Given the description of an element on the screen output the (x, y) to click on. 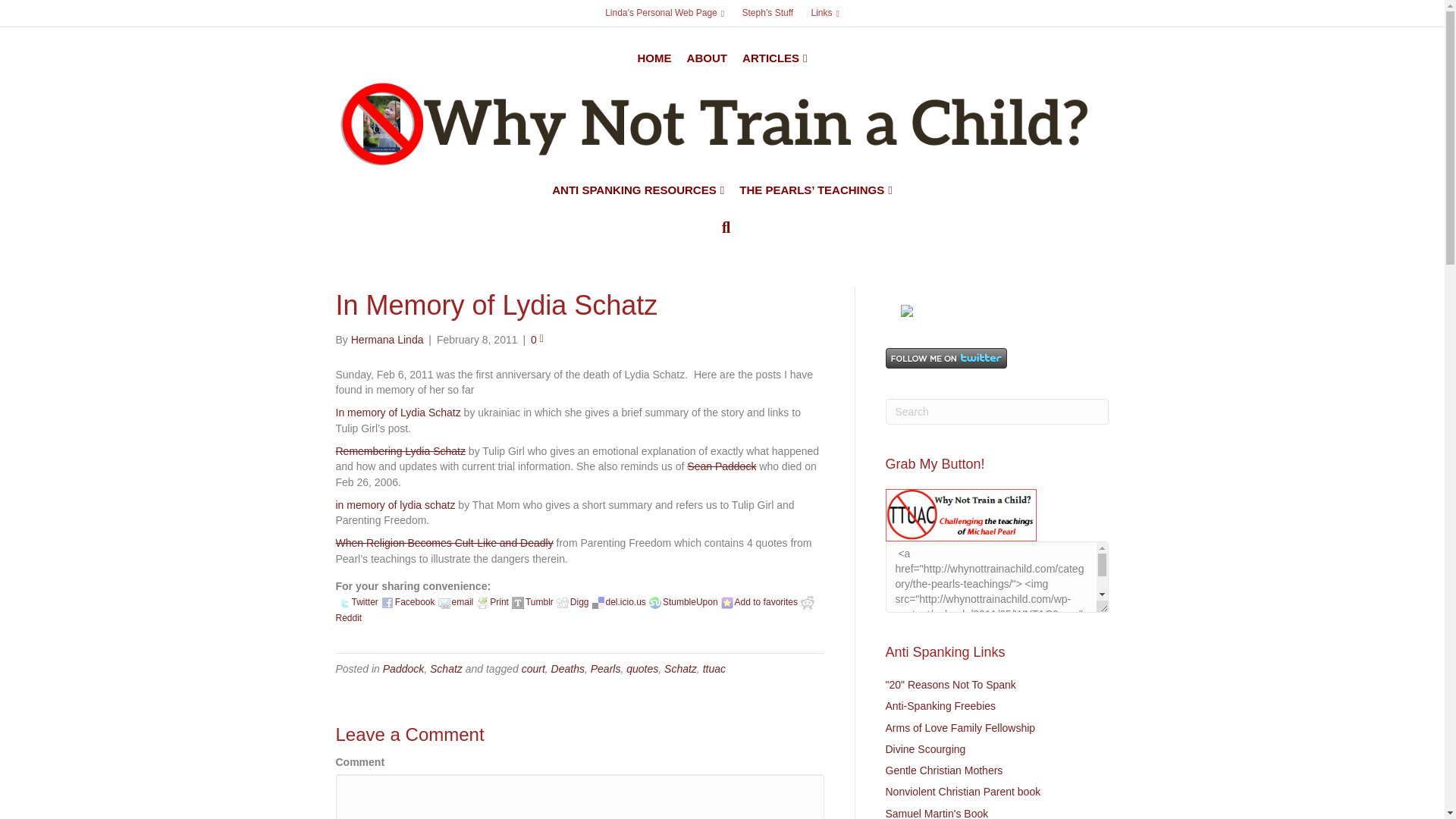
del.icio.us (597, 603)
email (443, 603)
Print (481, 603)
Digg (562, 602)
StumbleUpon (654, 603)
Twitter (344, 603)
Tumblr (518, 603)
Facebook (387, 603)
Add to favorites (758, 602)
